Given the description of an element on the screen output the (x, y) to click on. 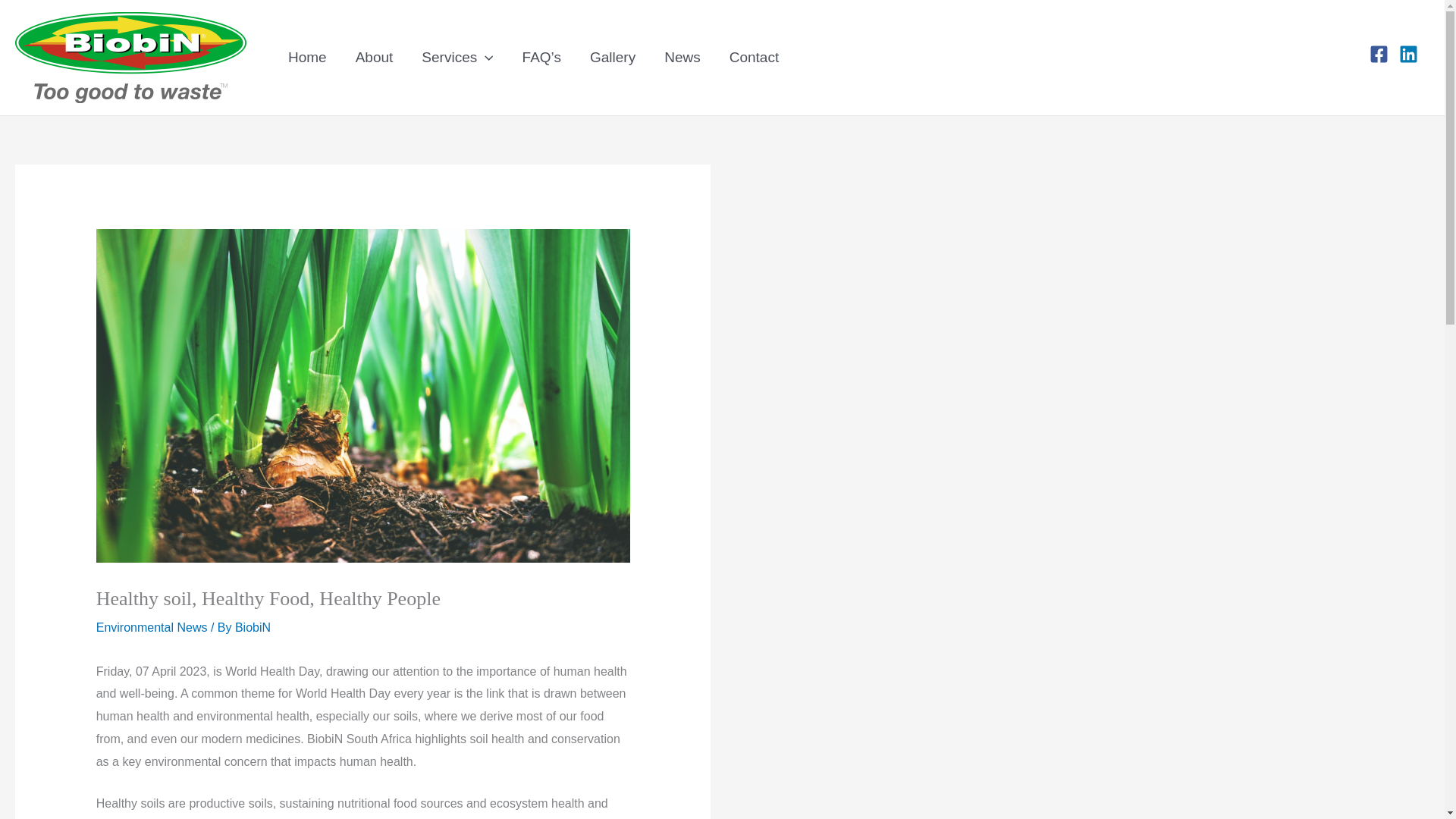
Environmental News (152, 626)
News (681, 57)
Contact (753, 57)
Home (306, 57)
Services (456, 57)
BiobiN (252, 626)
Gallery (612, 57)
About (373, 57)
View all posts by BiobiN (252, 626)
